Given the description of an element on the screen output the (x, y) to click on. 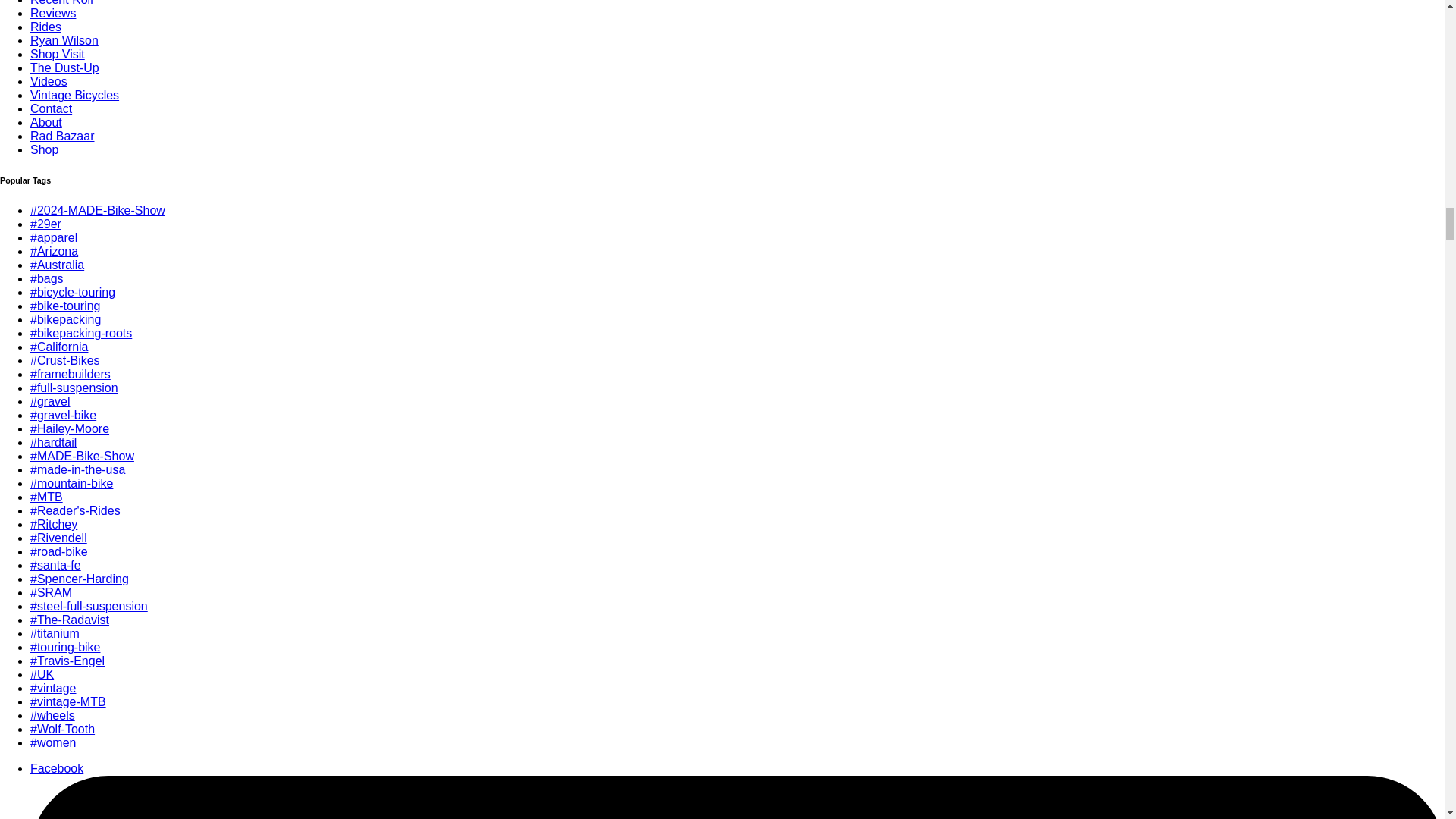
The Dust-Up (64, 67)
Recent Roll (61, 2)
Rad Bazaar (62, 135)
Rides (45, 26)
Ryan Wilson (64, 40)
Shop Visit (57, 53)
Reviews (52, 12)
Contact (50, 108)
About (46, 122)
Videos (48, 81)
